Given the description of an element on the screen output the (x, y) to click on. 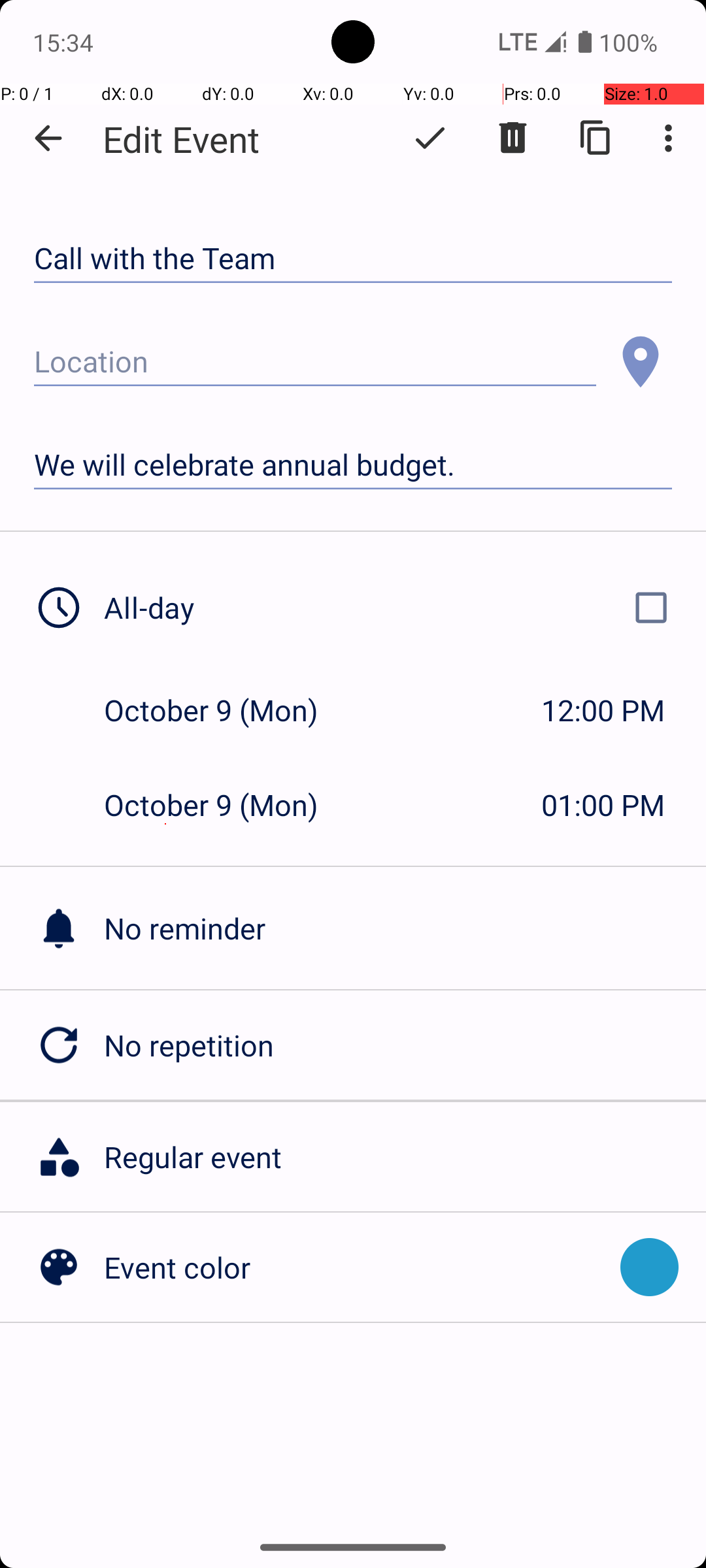
Call with the Team Element type: android.widget.EditText (352, 258)
We will celebrate annual budget. Element type: android.widget.EditText (352, 465)
October 9 (Mon) Element type: android.widget.TextView (224, 709)
12:00 PM Element type: android.widget.TextView (602, 709)
01:00 PM Element type: android.widget.TextView (602, 804)
